Given the description of an element on the screen output the (x, y) to click on. 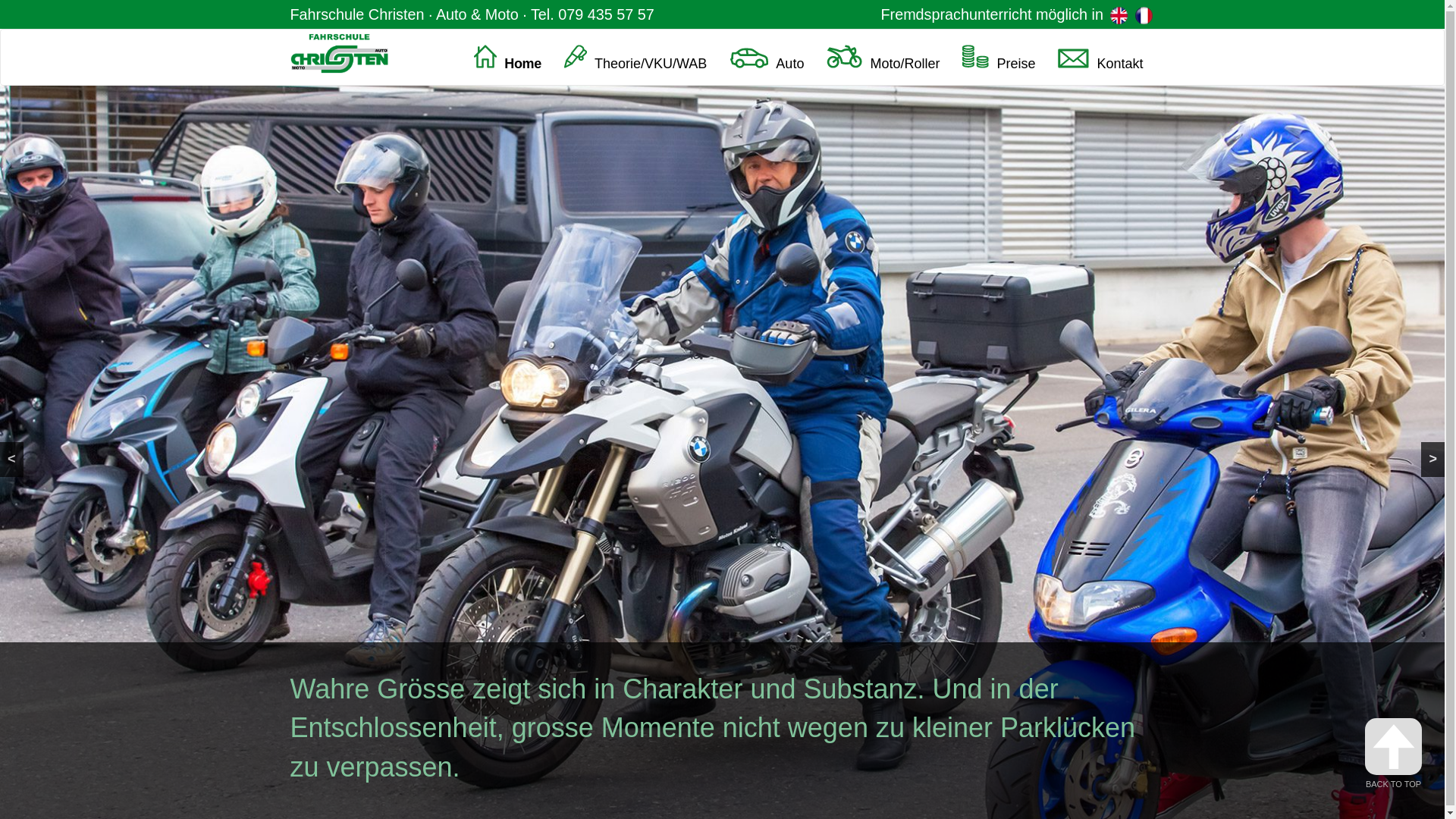
Home Element type: text (507, 55)
> Element type: text (1432, 459)
 BACK TO TOP Element type: text (1393, 753)
Theorie/VKU/WAB Element type: text (635, 55)
Kontakt Element type: text (1100, 55)
Preise Element type: text (998, 55)
< Element type: text (11, 459)
Auto Element type: text (766, 55)
Moto/Roller Element type: text (882, 55)
